Given the description of an element on the screen output the (x, y) to click on. 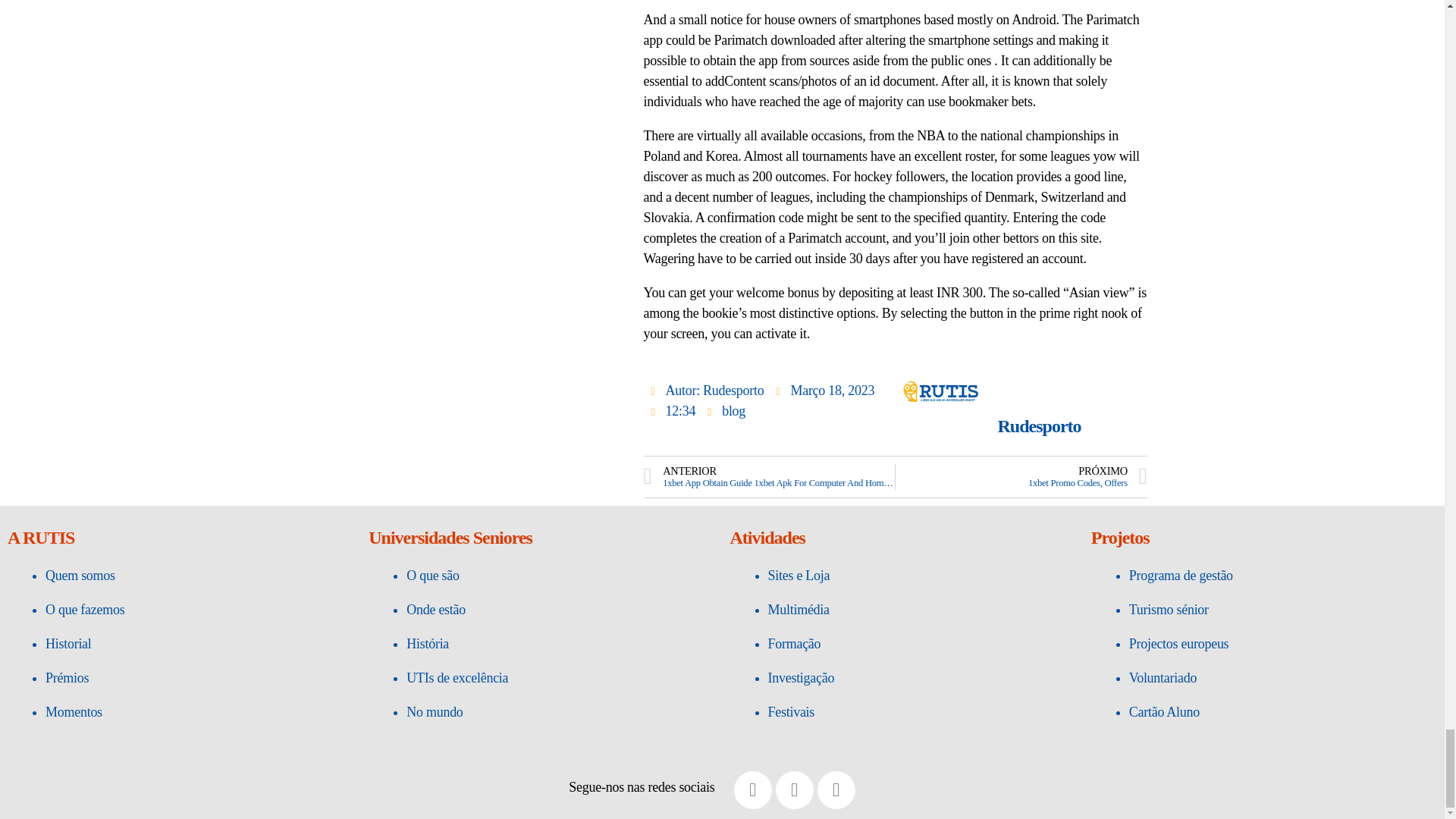
blog (733, 410)
